Given the description of an element on the screen output the (x, y) to click on. 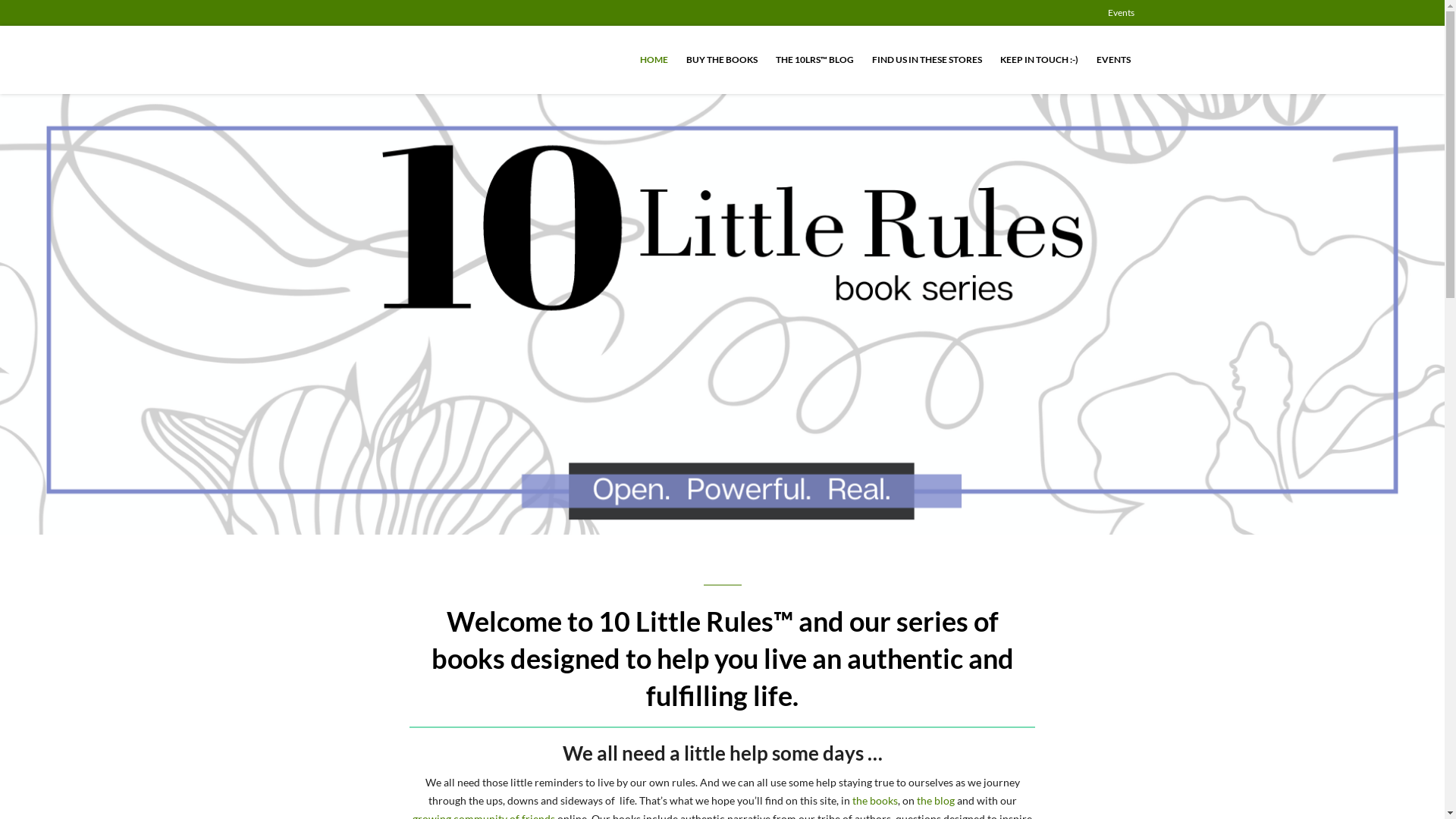
KEEP IN TOUCH :-) Element type: text (1038, 59)
Events Element type: text (1123, 12)
EVENTS Element type: text (1113, 59)
HOME Element type: text (653, 59)
the blog Element type: text (934, 799)
FIND US IN THESE STORES Element type: text (926, 59)
BUY THE BOOKS Element type: text (720, 59)
the books Element type: text (874, 799)
